Given the description of an element on the screen output the (x, y) to click on. 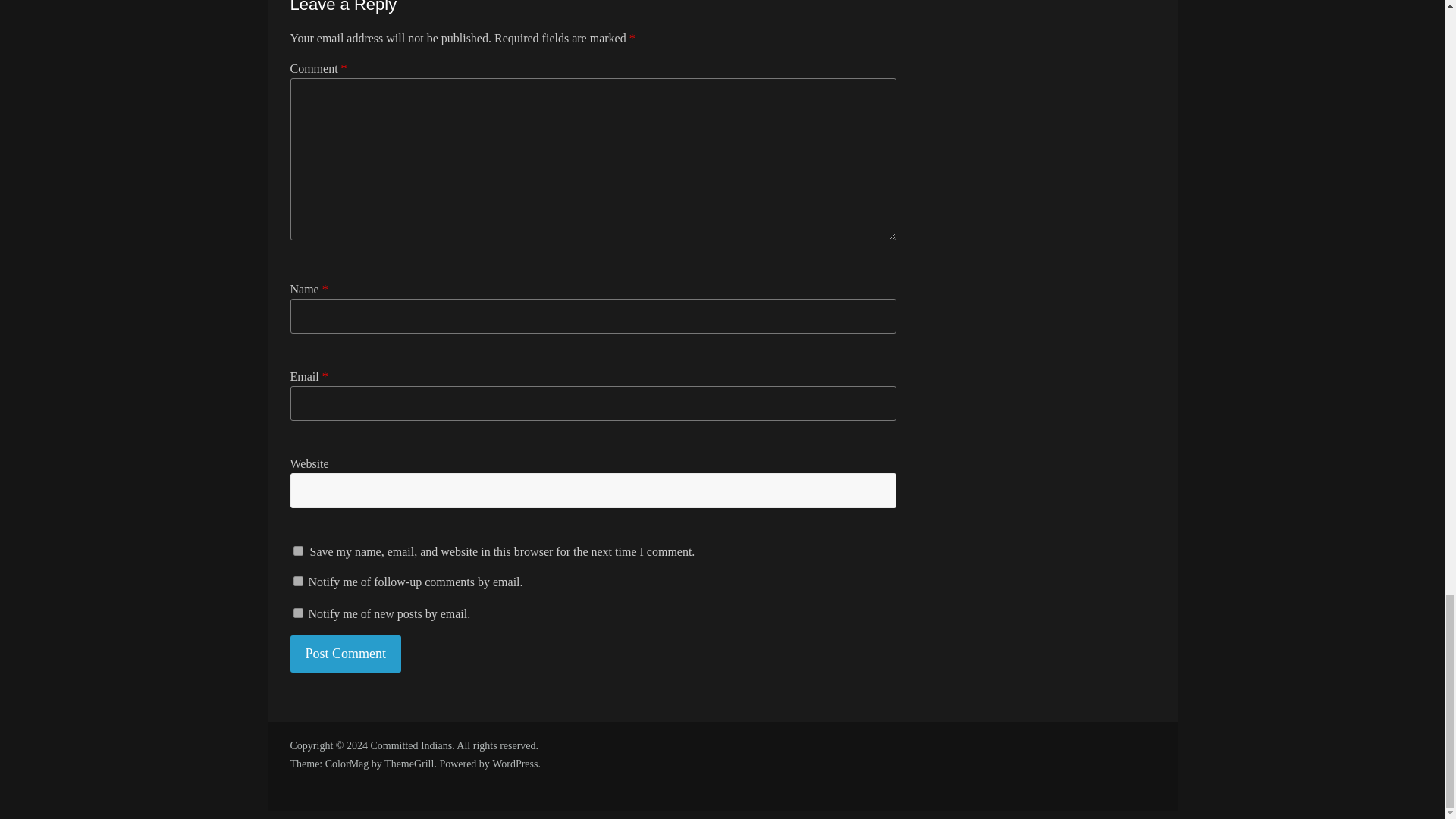
WordPress (514, 764)
Committed Indians (410, 746)
yes (297, 551)
Post Comment (345, 653)
Post Comment (345, 653)
ColorMag (346, 764)
subscribe (297, 581)
subscribe (297, 613)
